Given the description of an element on the screen output the (x, y) to click on. 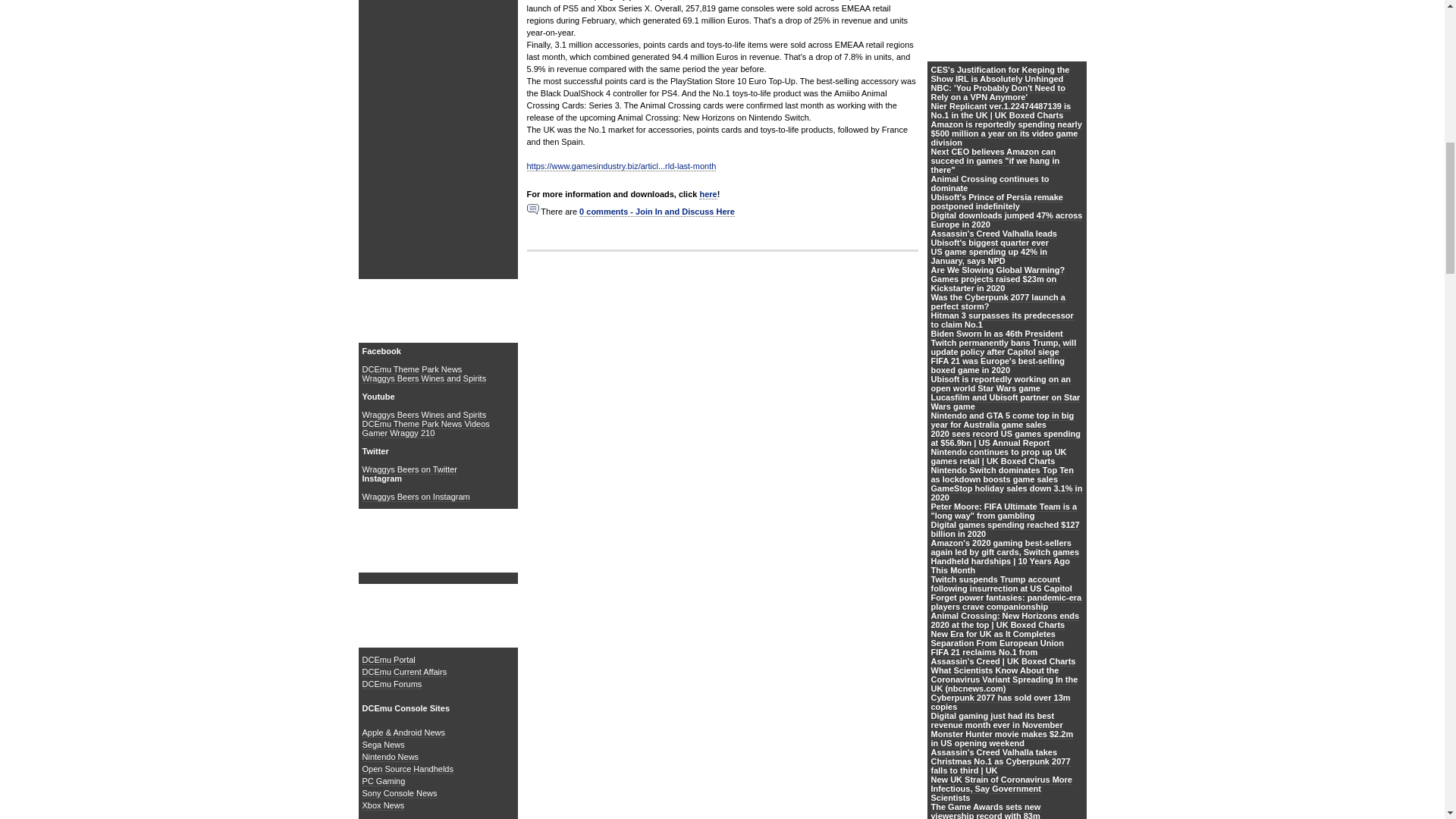
Gamer Wraggy 210 (398, 433)
Wraggys Beers on Twitter (410, 470)
Wraggys Beers Wines and Spirits (424, 378)
Wraggys Beers Wines and Spirits (424, 415)
DCEmu Theme Park News Videos (425, 424)
DCEmu Theme Park News (412, 369)
Advertisement (721, 389)
